Given the description of an element on the screen output the (x, y) to click on. 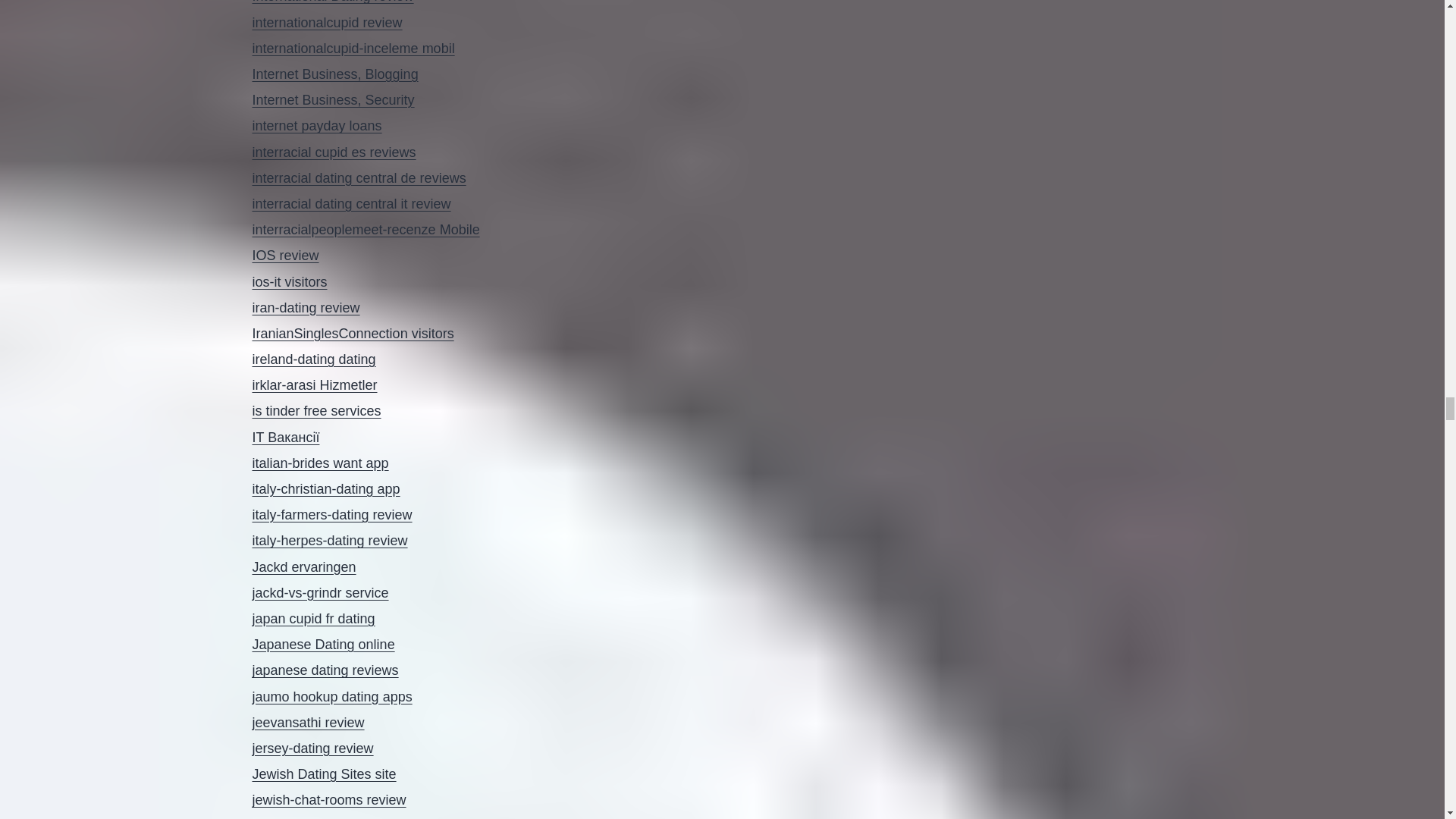
Internet Business, Security (332, 99)
Internet Business, Blogging (334, 73)
